Given the description of an element on the screen output the (x, y) to click on. 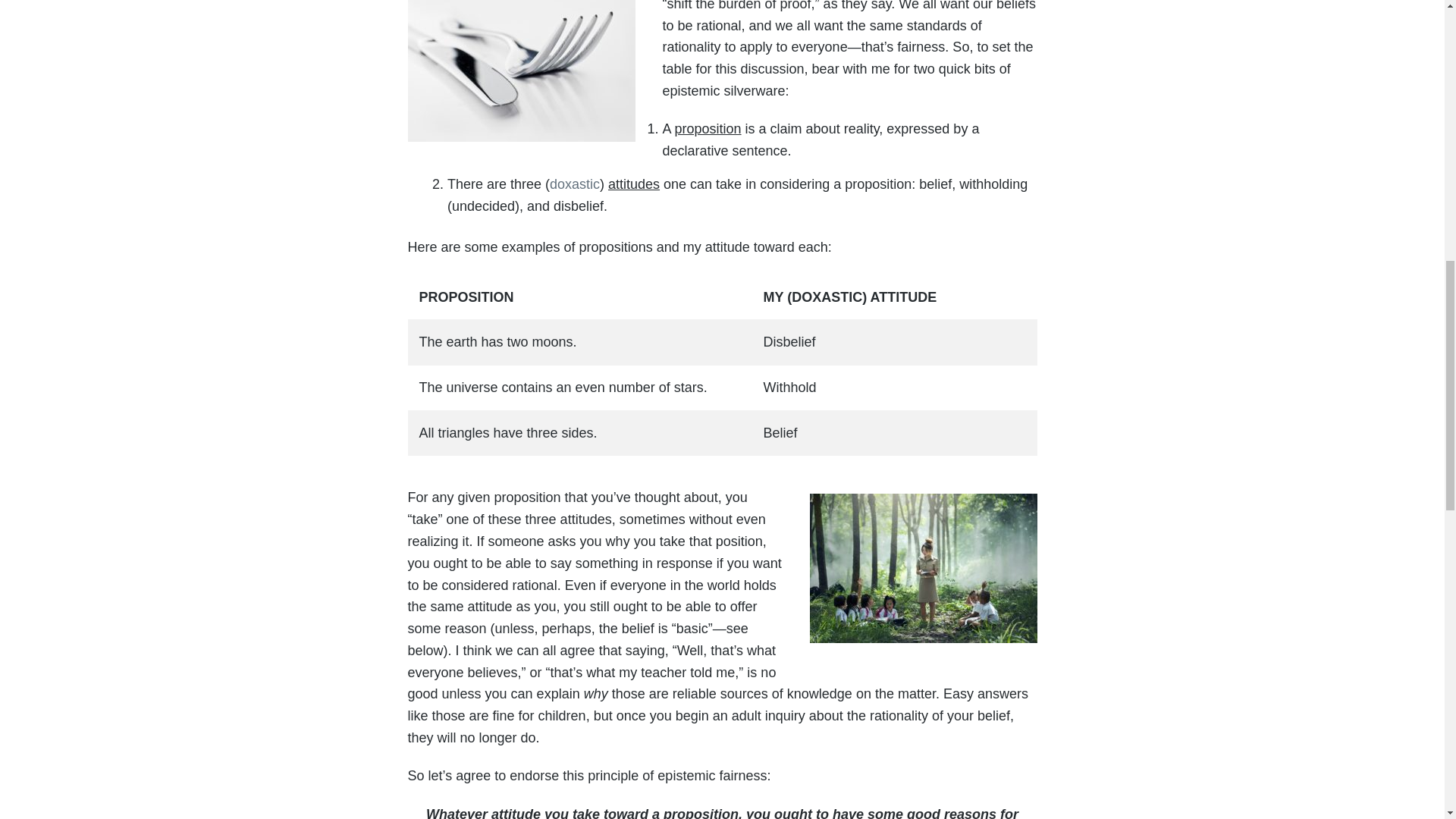
doxastic (574, 183)
